Given the description of an element on the screen output the (x, y) to click on. 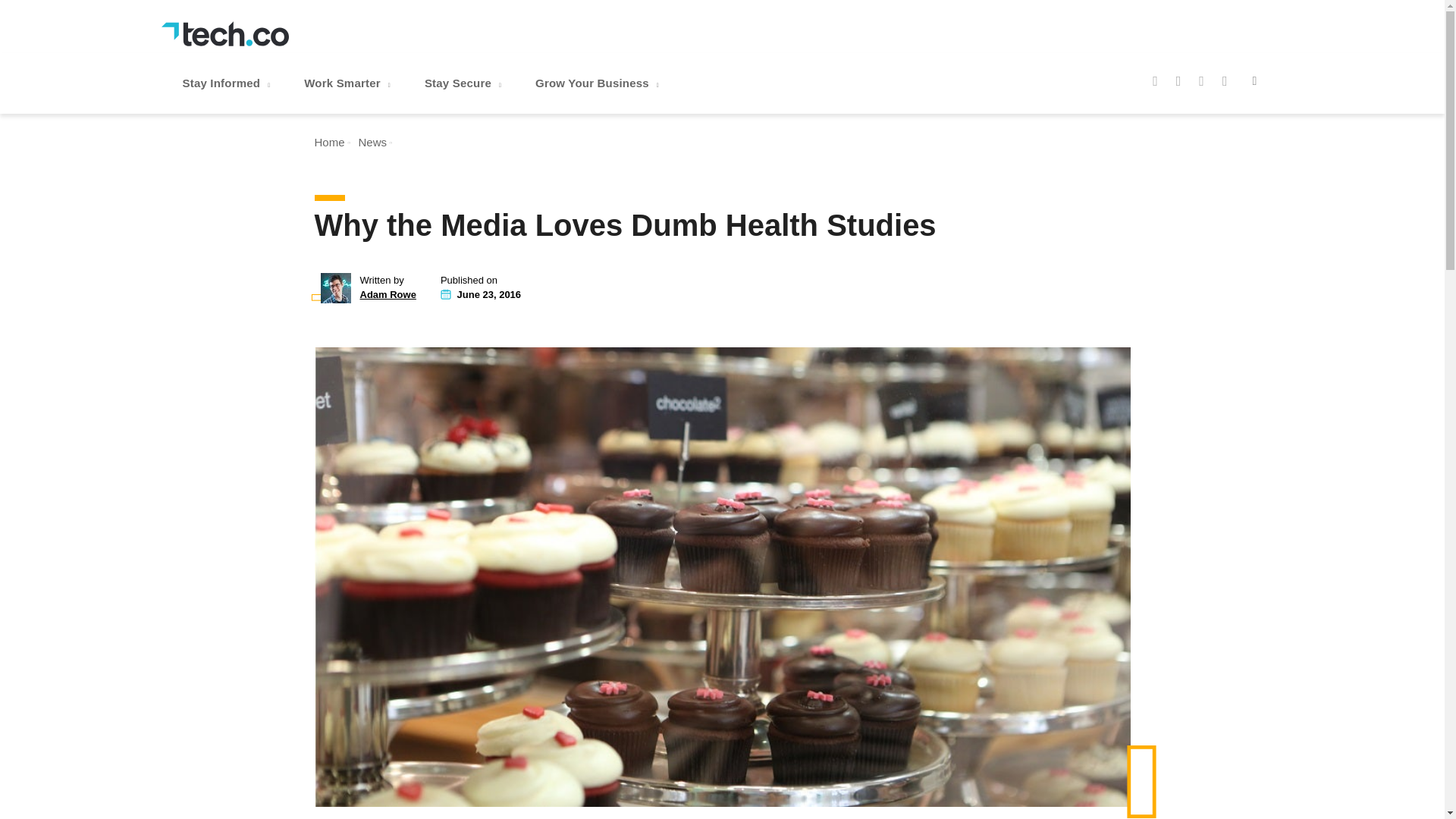
Work Smarter (348, 83)
Stay Informed (227, 83)
Stay Secure (464, 83)
Grow Your Business (598, 83)
